Given the description of an element on the screen output the (x, y) to click on. 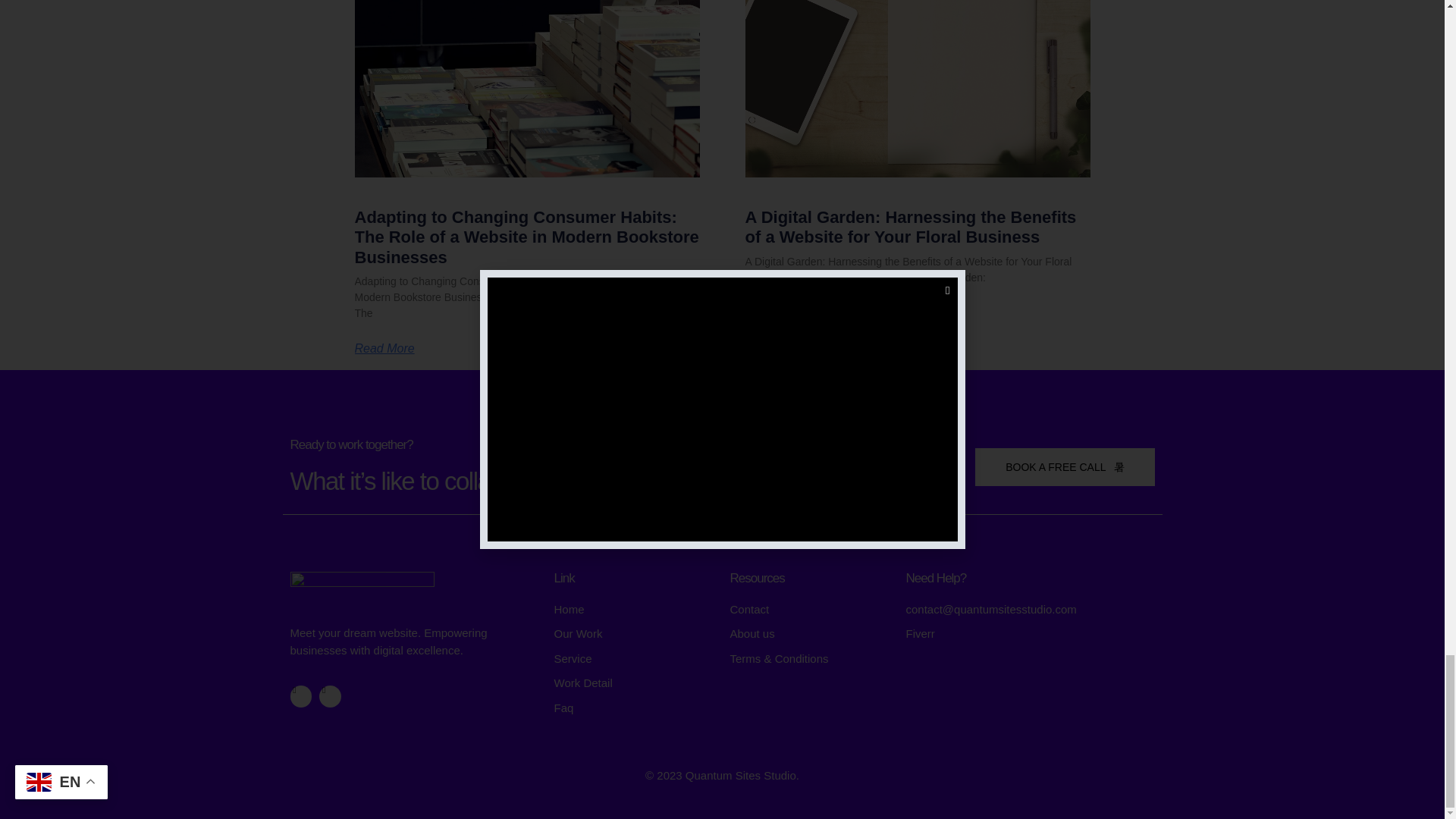
Our Work (633, 633)
Read More (384, 348)
Fiverr (1029, 633)
Work Detail (633, 683)
About us (809, 633)
Home (633, 610)
Faq (633, 708)
Contact (809, 610)
BOOK A FREE CALL (1064, 466)
Read More (774, 313)
Service (633, 659)
